Given the description of an element on the screen output the (x, y) to click on. 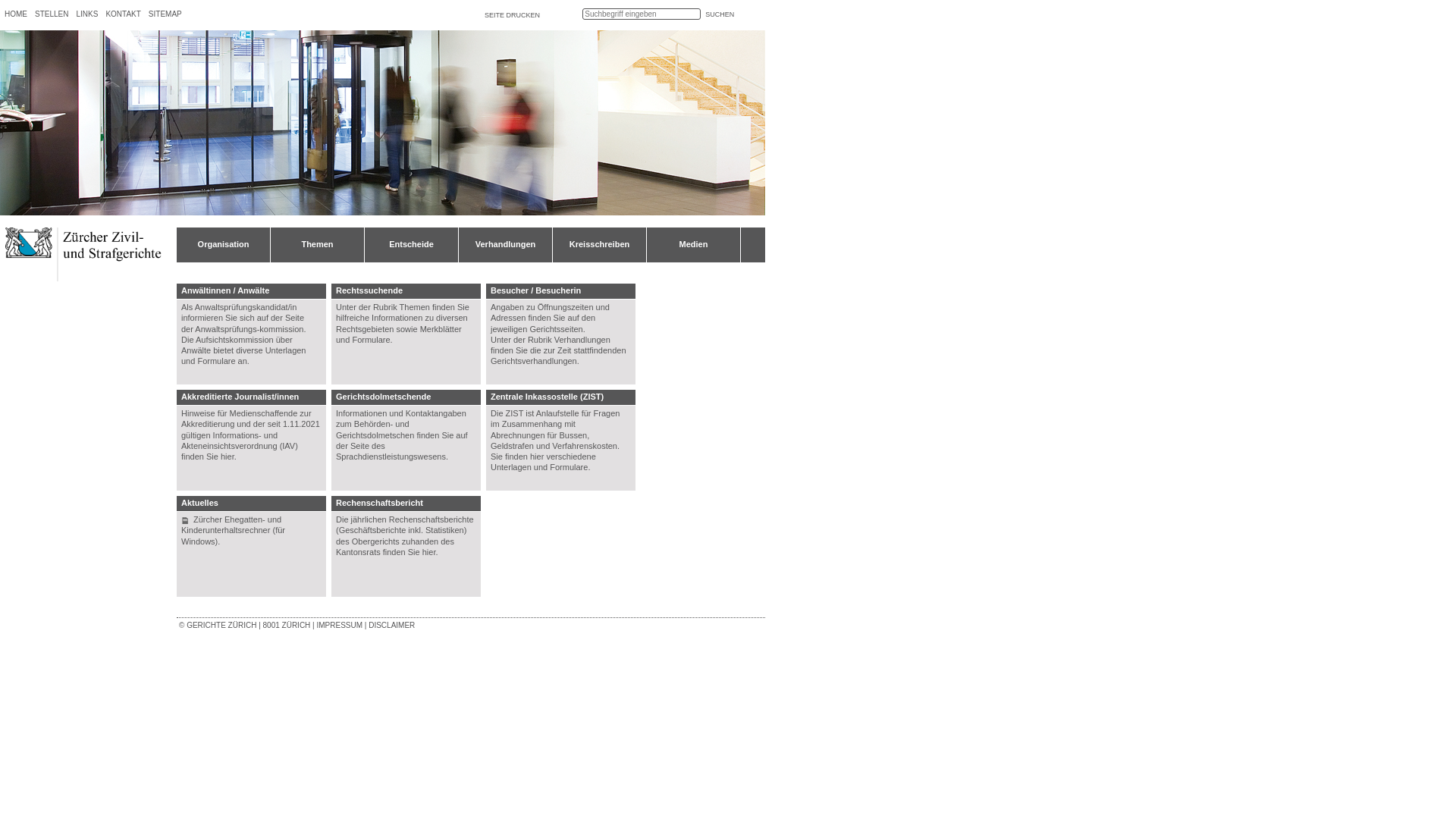
Themen Element type: text (414, 306)
Kreisschreiben Element type: text (599, 250)
SITEMAP Element type: text (165, 13)
Themen Element type: text (317, 250)
Verhandlungen Element type: text (505, 250)
Organisation Element type: text (222, 250)
DISCLAIMER Element type: text (391, 625)
Medien Element type: text (693, 250)
hier Element type: text (536, 456)
hier Element type: text (227, 456)
Sprachdienstleistungswesens Element type: text (390, 456)
SUCHEN Element type: text (719, 14)
KONTAKT Element type: text (122, 13)
Entscheide Element type: text (411, 250)
SEITE DRUCKEN Element type: text (511, 14)
HOME Element type: text (15, 13)
Gerichtsseiten Element type: text (555, 328)
LINKS Element type: text (86, 13)
STELLEN Element type: text (51, 13)
IMPRESSUM Element type: text (339, 625)
hier Element type: text (429, 551)
